Given the description of an element on the screen output the (x, y) to click on. 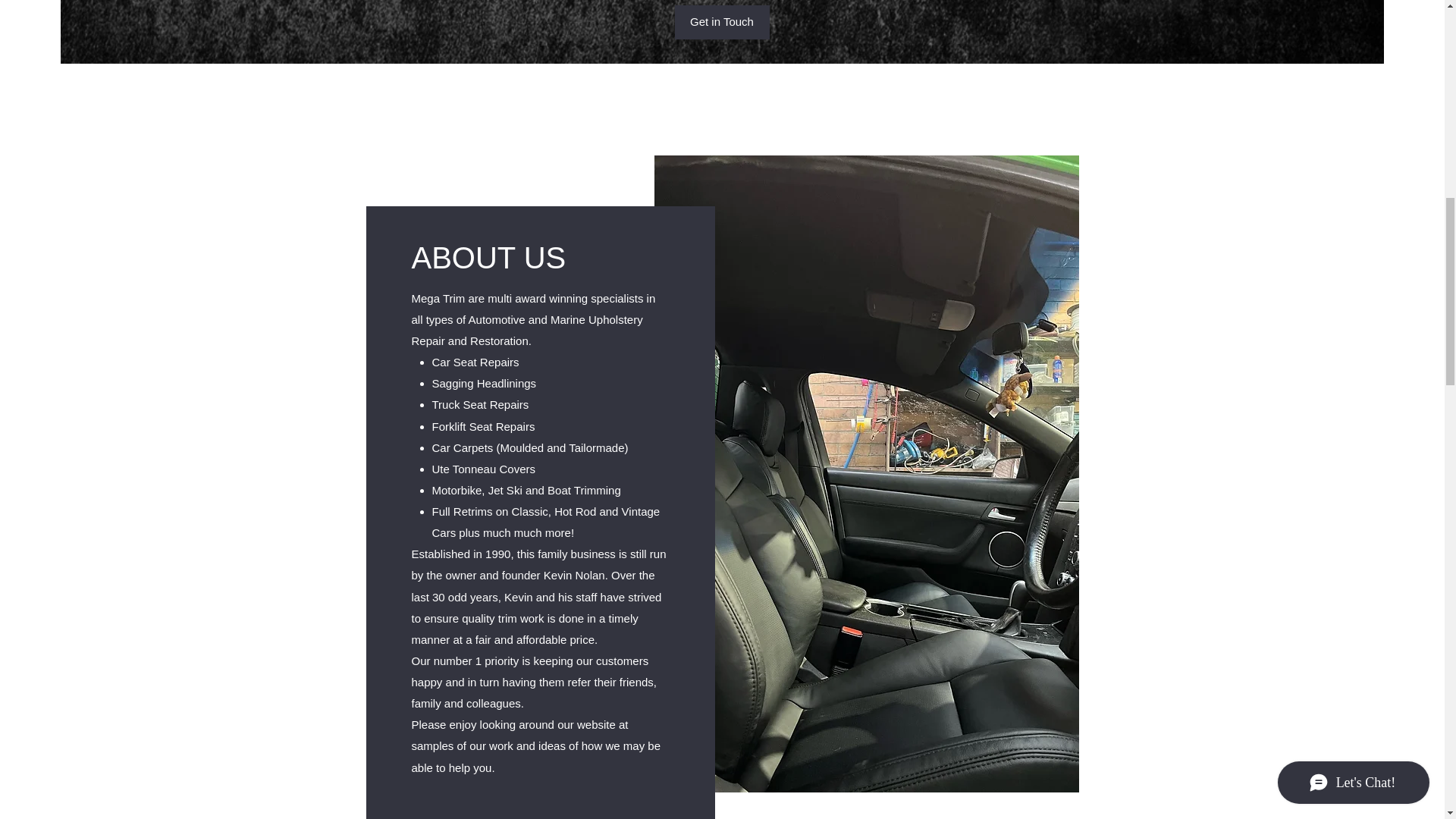
Get in Touch (722, 21)
